Given the description of an element on the screen output the (x, y) to click on. 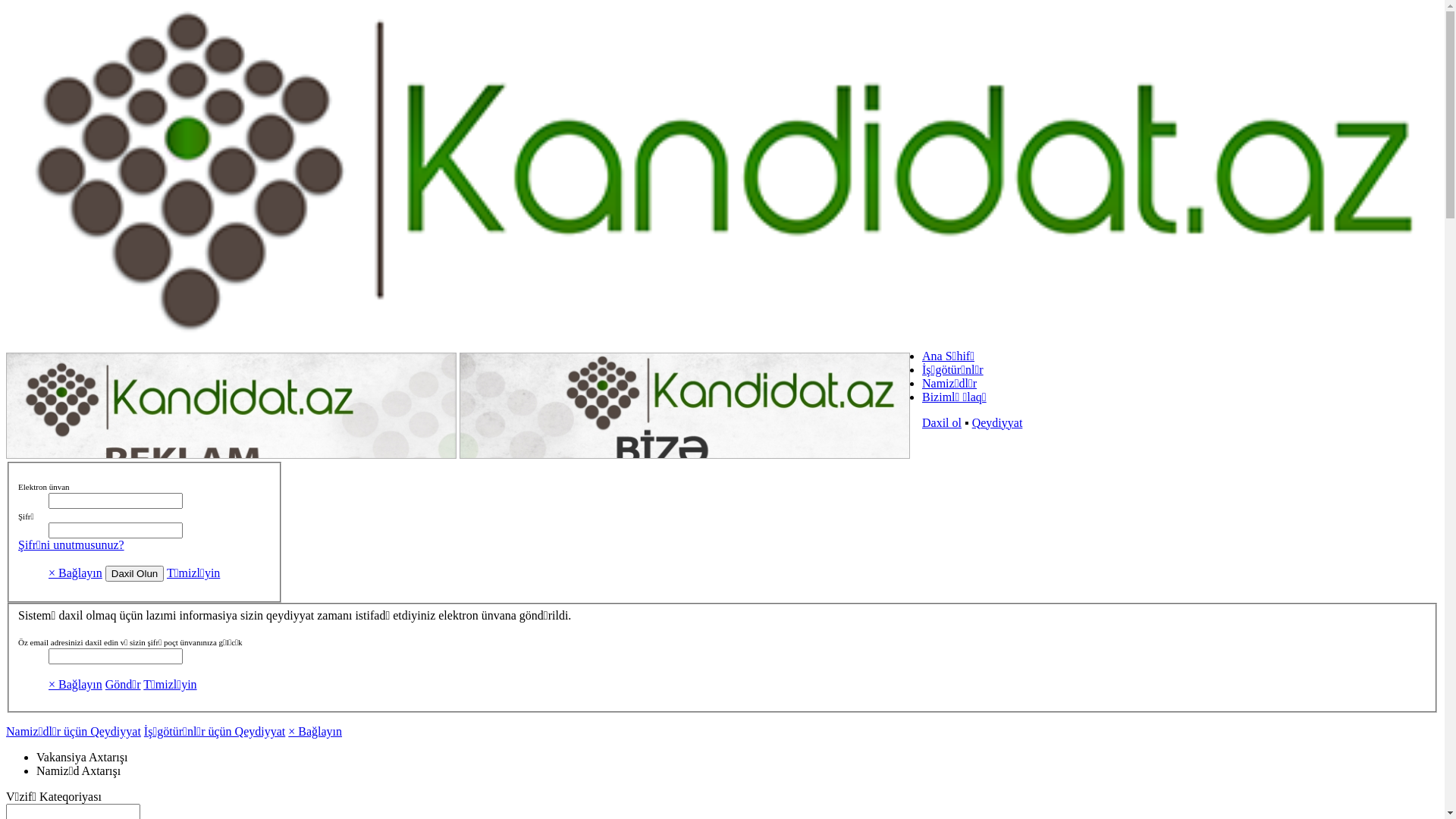
Daxil ol Element type: text (941, 422)
Daxil Olun Element type: text (134, 573)
Qeydiyyat Element type: text (997, 422)
